Given the description of an element on the screen output the (x, y) to click on. 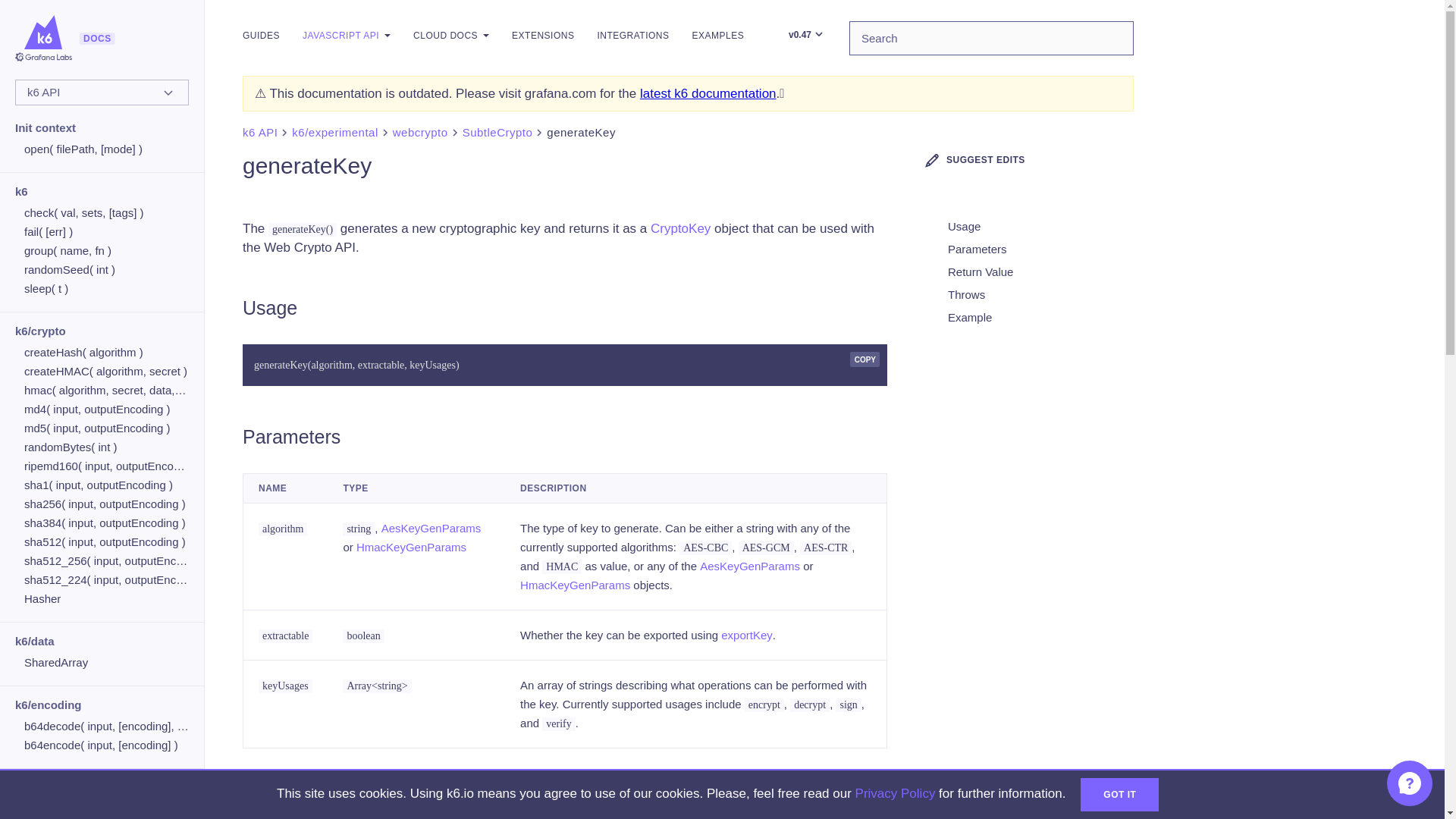
k6 (20, 191)
Hasher (106, 598)
k6 API (101, 92)
SharedArray (106, 662)
Init context (44, 127)
DOCS (42, 38)
